Given the description of an element on the screen output the (x, y) to click on. 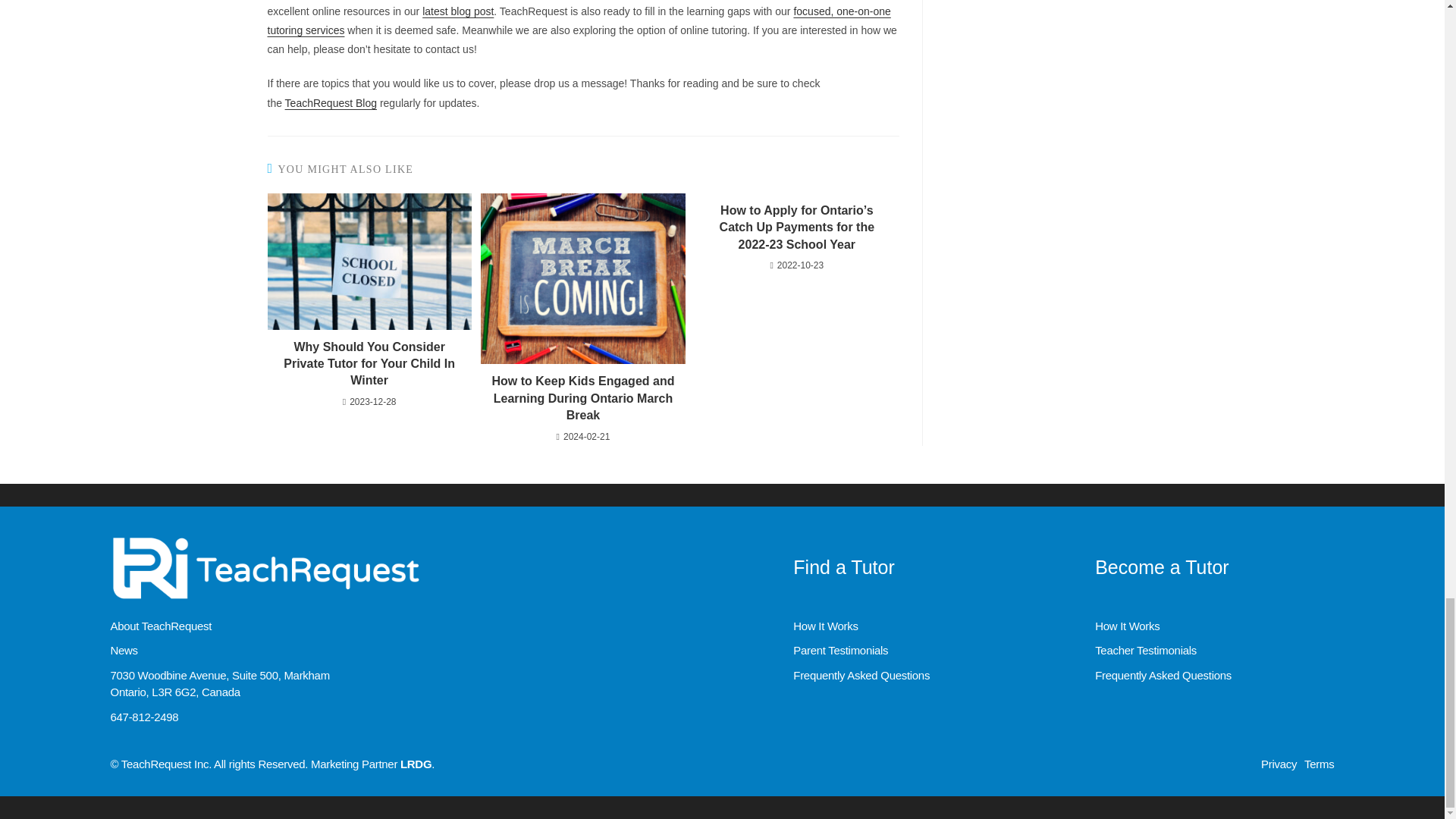
focused, one-on-one tutoring services (577, 20)
latest blog post (457, 10)
TeachRequest Blog (331, 102)
